Given the description of an element on the screen output the (x, y) to click on. 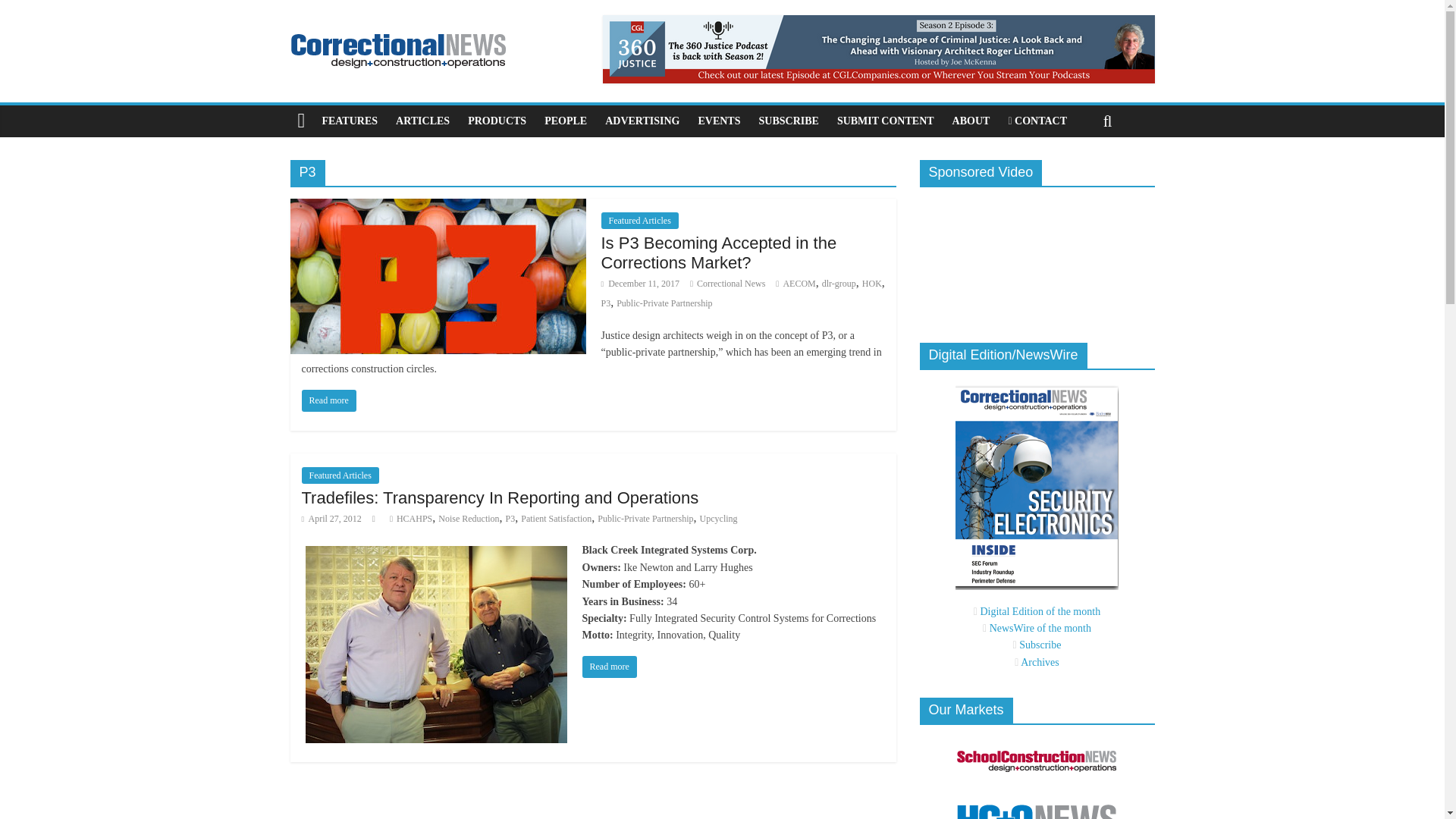
Upcycling (719, 518)
Tradefiles: Transparency In Reporting and Operations (499, 497)
CONTACT (1036, 121)
SUBMIT CONTENT (885, 121)
Is P3 Becoming Accepted in the Corrections Market? (717, 252)
Read more (609, 667)
FEATURES (350, 121)
AECOM (799, 283)
PRODUCTS (496, 121)
Noise Reduction (468, 518)
